Given the description of an element on the screen output the (x, y) to click on. 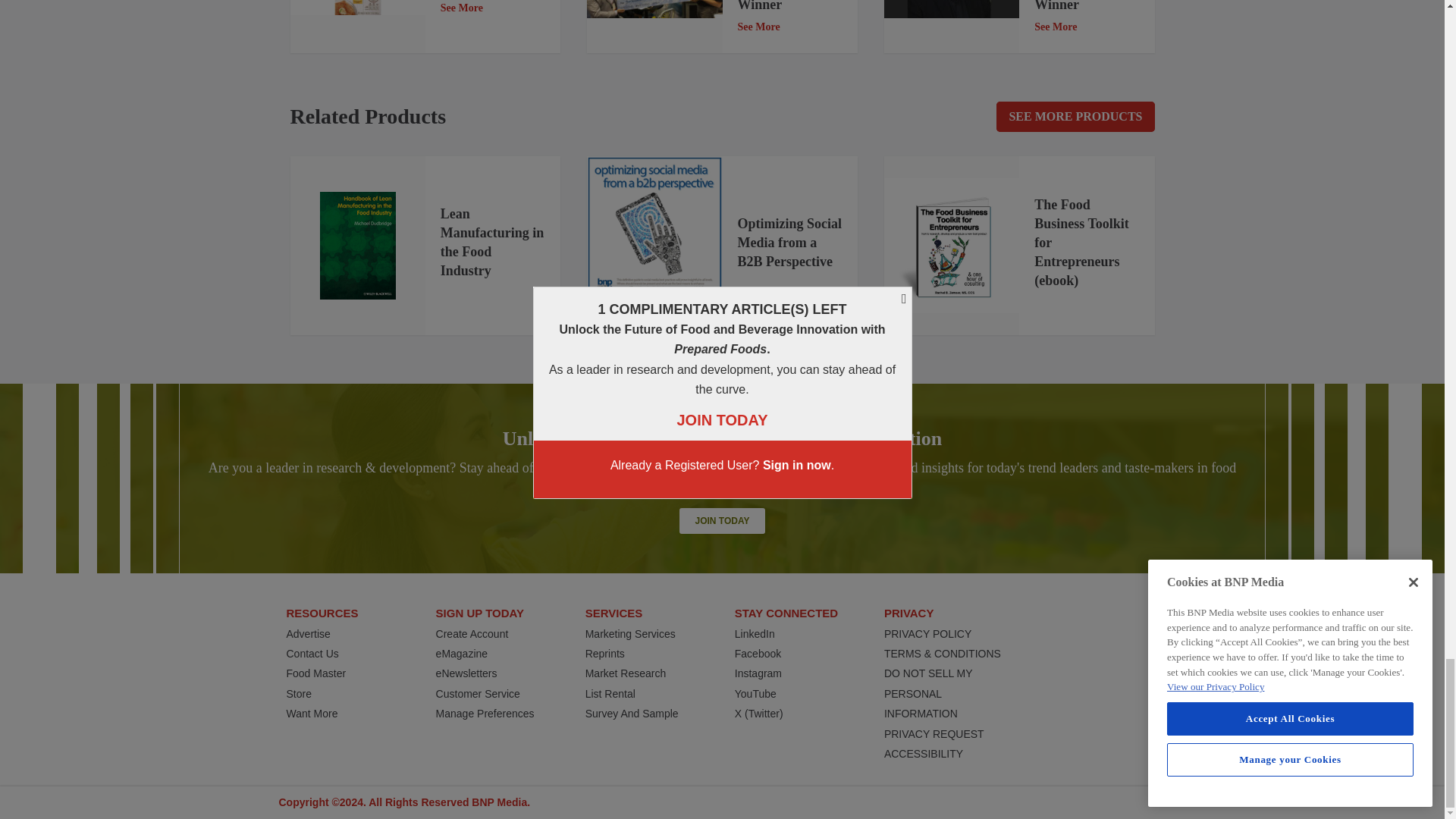
The-Food-Business-ToolKit-V2019-1.pdf (951, 245)
